Given the description of an element on the screen output the (x, y) to click on. 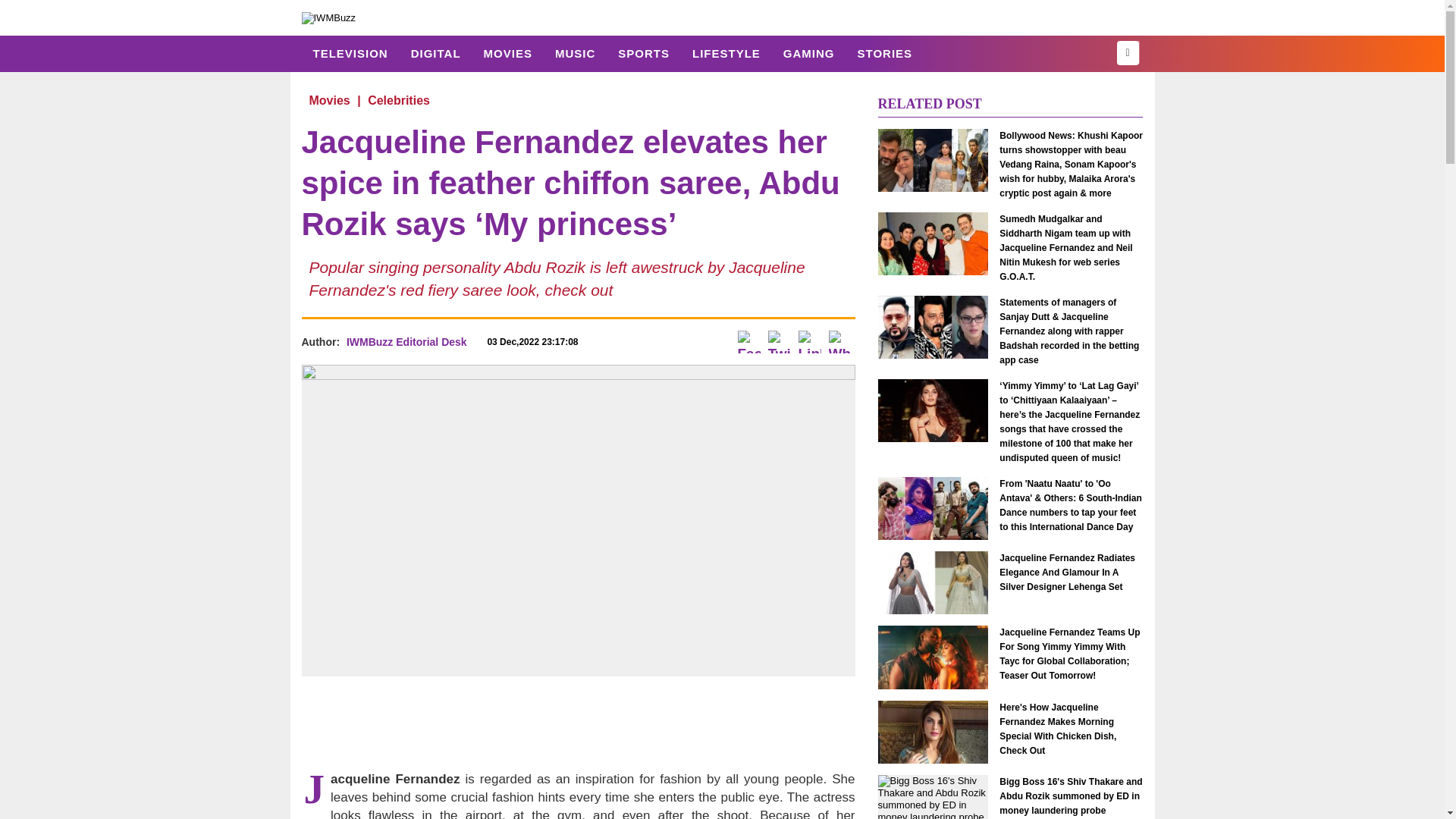
GAMING (808, 53)
Television (349, 53)
SPORTS (644, 53)
IWMBuzz (328, 16)
Movies (507, 53)
Web Stories (884, 53)
MUSIC (575, 53)
Gaming (808, 53)
DIGITAL (434, 53)
Movies (328, 100)
TELEVISION (349, 53)
